Given the description of an element on the screen output the (x, y) to click on. 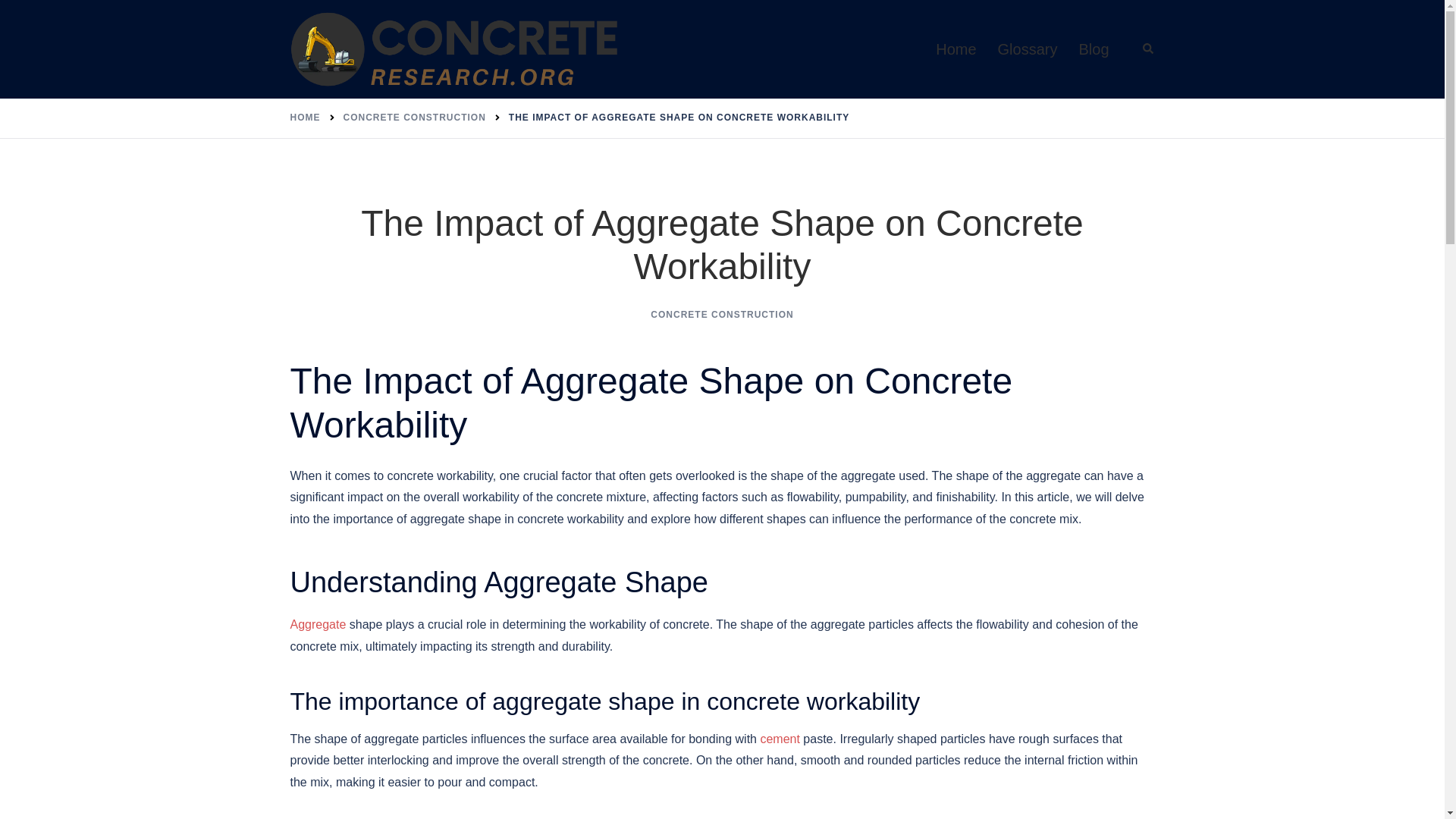
Home (955, 49)
cement (779, 738)
cement (779, 738)
Blog (1093, 49)
Search (1147, 49)
Glossary (1027, 49)
ConcreteResearch.org (454, 47)
CONCRETE CONSTRUCTION (721, 314)
CONCRETE CONSTRUCTION (413, 117)
HOME (304, 117)
